Given the description of an element on the screen output the (x, y) to click on. 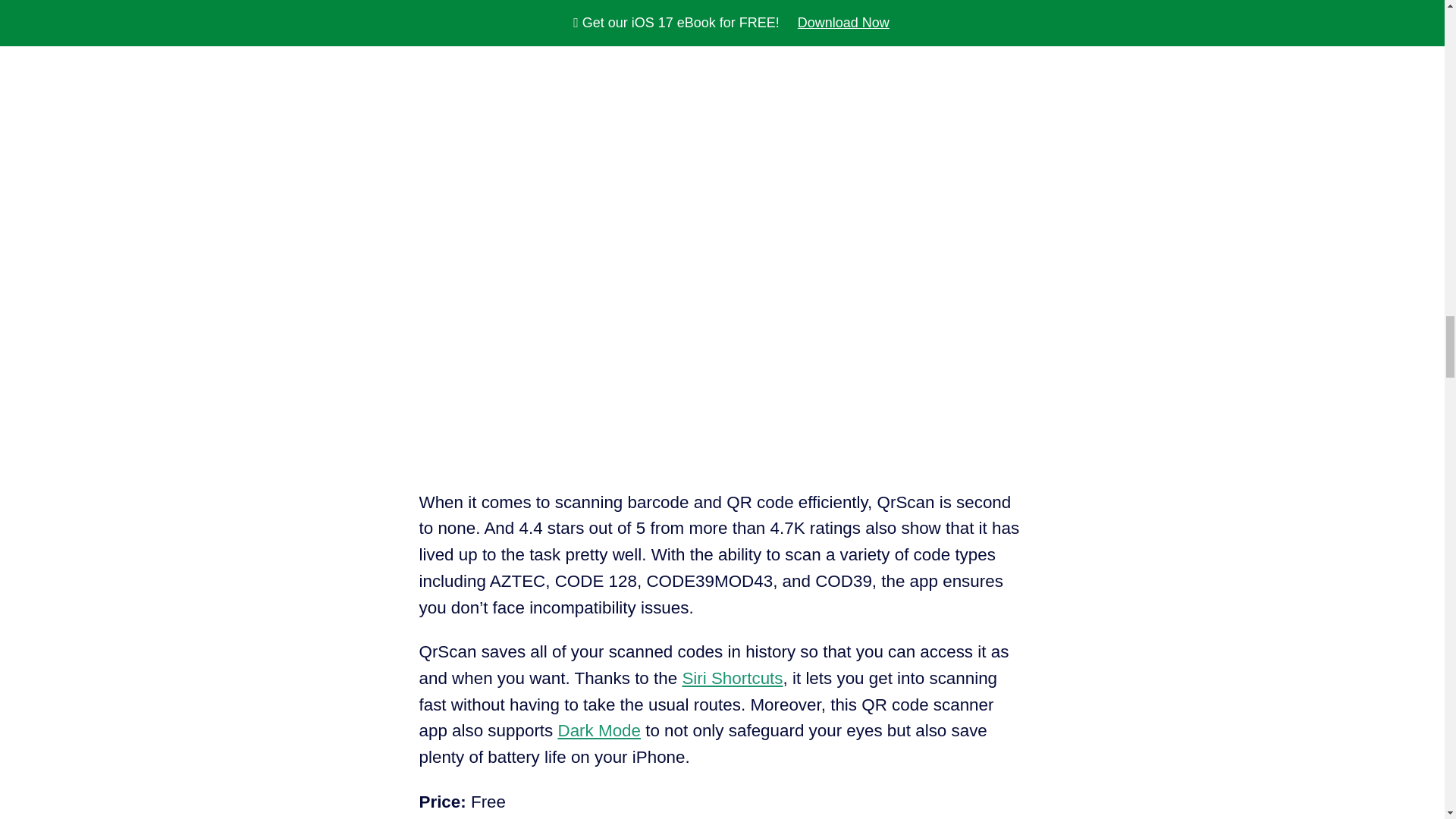
Siri Shortcuts (732, 678)
Dark Mode (598, 730)
